Given the description of an element on the screen output the (x, y) to click on. 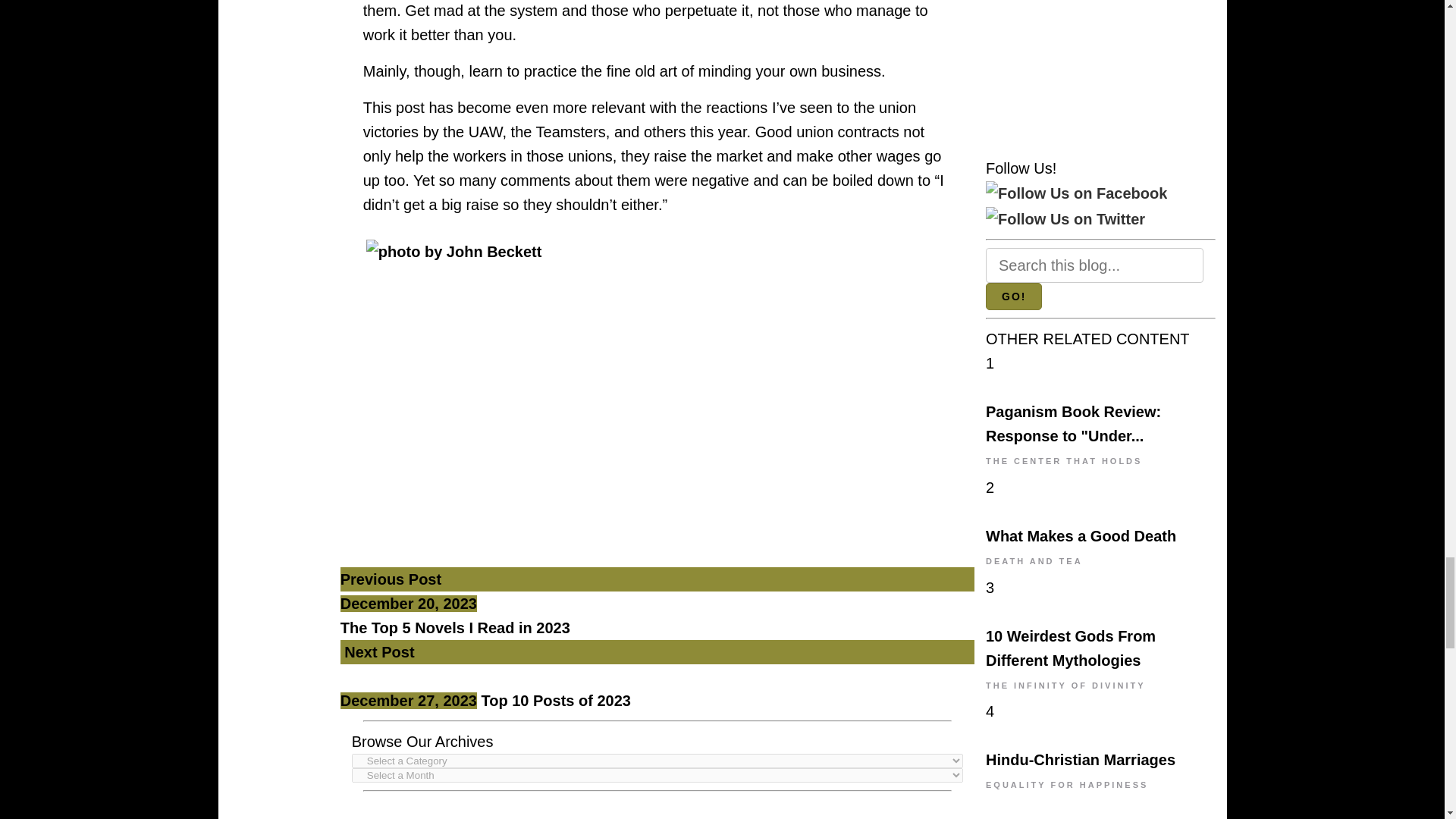
Follow Us on Facebook (1076, 192)
Go! (1013, 296)
Follow Us on Twitter (1064, 218)
